Given the description of an element on the screen output the (x, y) to click on. 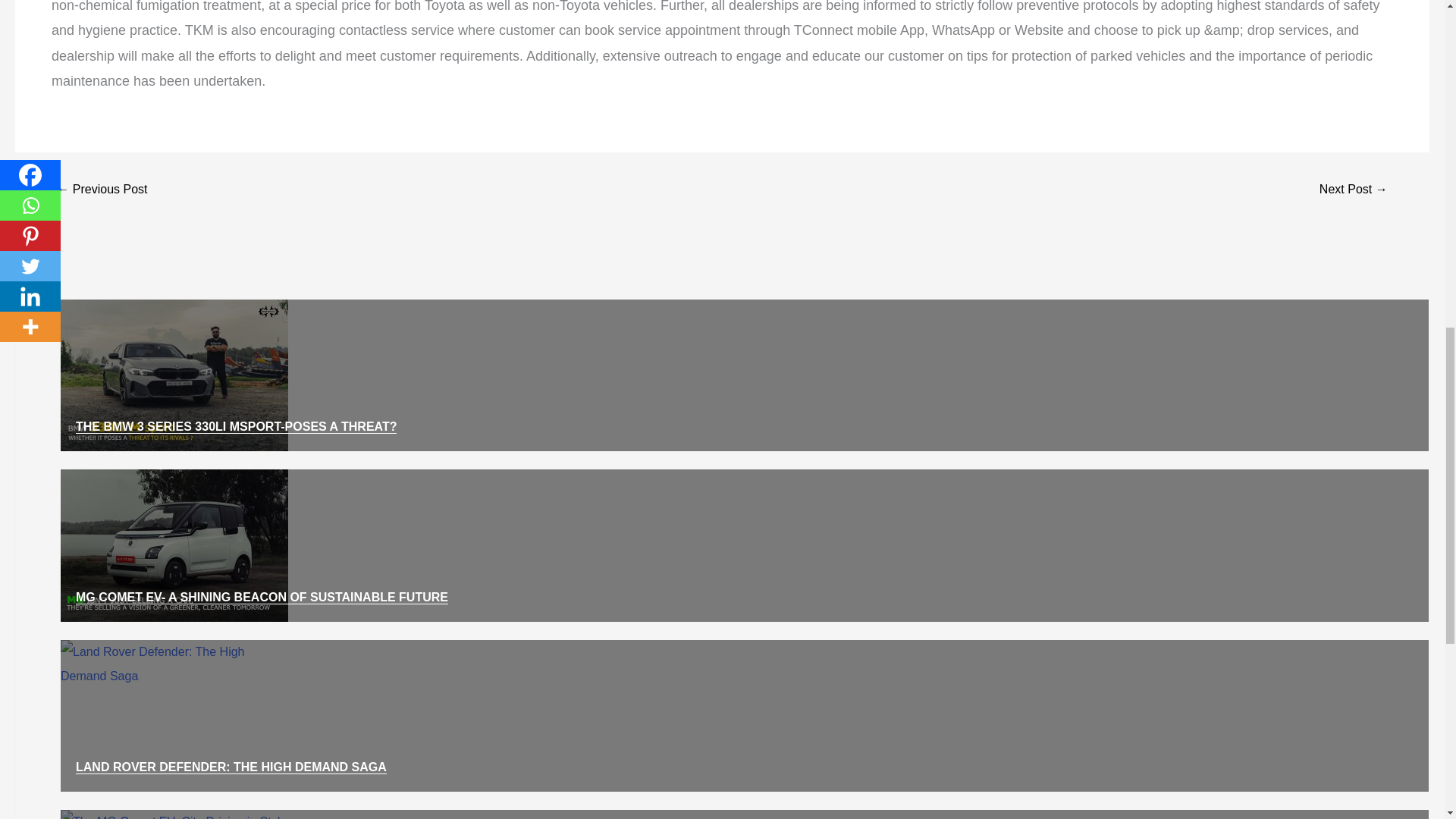
LAND ROVER DEFENDER: THE HIGH DEMAND SAGA (231, 766)
THE BMW 3 SERIES 330LI MSPORT-POSES A THREAT? (235, 427)
MG COMET EV- A SHINING BEACON OF SUSTAINABLE FUTURE (261, 597)
